Given the description of an element on the screen output the (x, y) to click on. 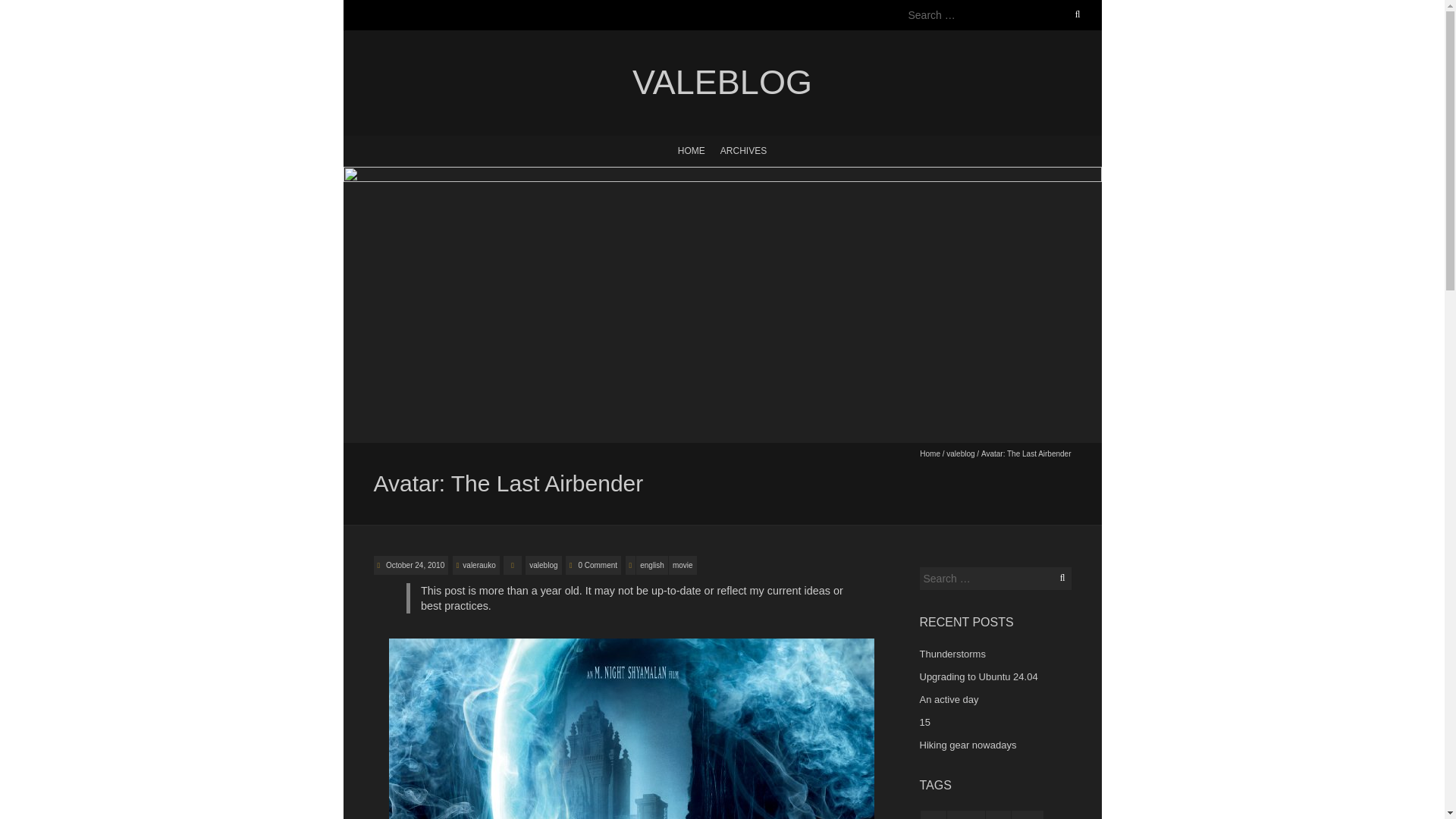
Thunderstorms (951, 654)
valeblog (542, 564)
movie (682, 564)
15 (924, 722)
Search (28, 9)
VALEBLOG (721, 82)
HOME (691, 149)
valeblog (721, 82)
An active day (948, 699)
Category (512, 564)
